Given the description of an element on the screen output the (x, y) to click on. 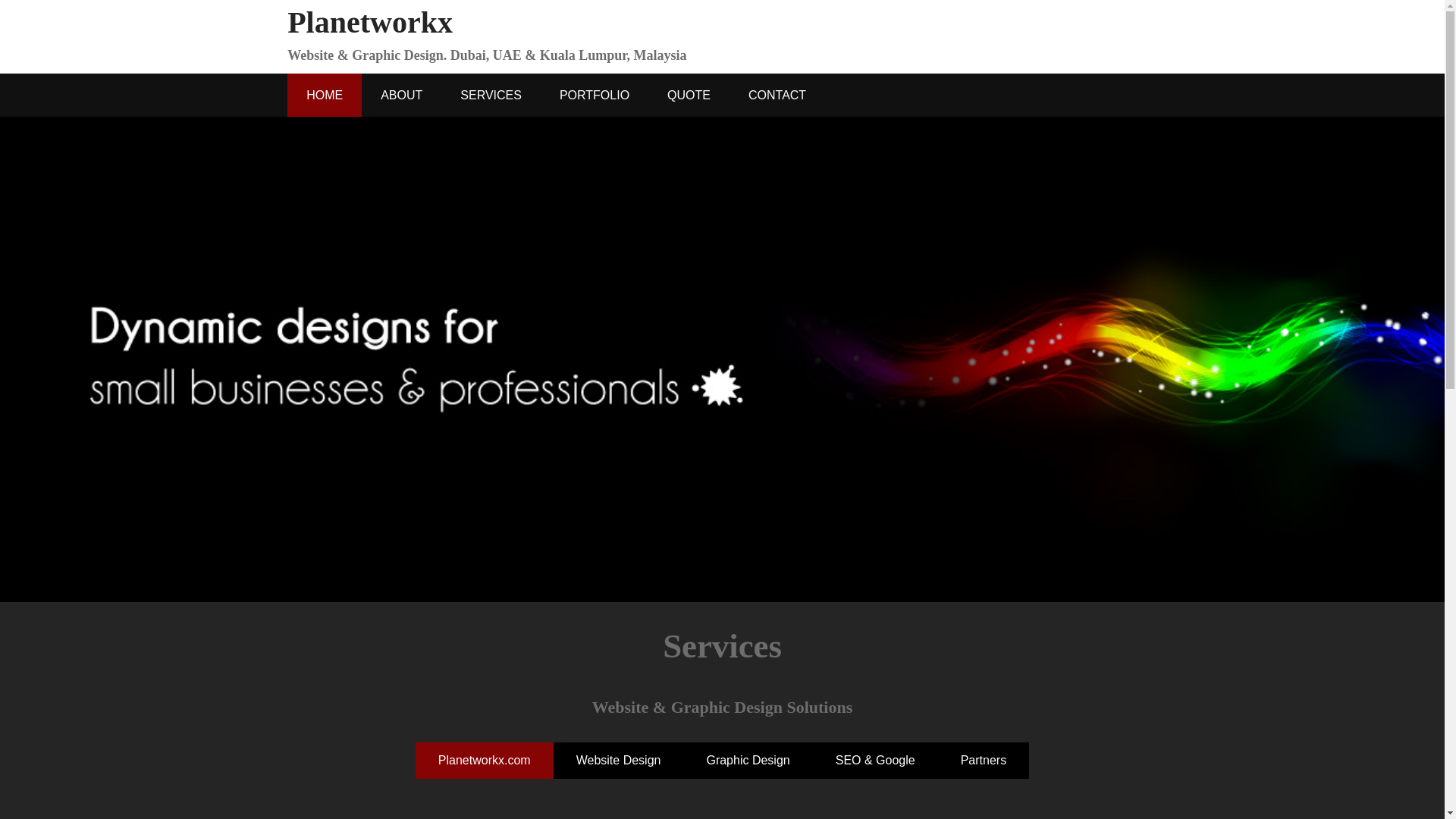
Planetworkx (369, 21)
2 (701, 572)
3 (722, 572)
ABOUT (401, 95)
PORTFOLIO (593, 95)
QUOTE (688, 95)
HOME (323, 95)
5 (762, 572)
SERVICES (490, 95)
Partners (983, 760)
Website Design (618, 760)
Planetworkx.com (483, 760)
4 (742, 572)
Graphic Design (747, 760)
